Given the description of an element on the screen output the (x, y) to click on. 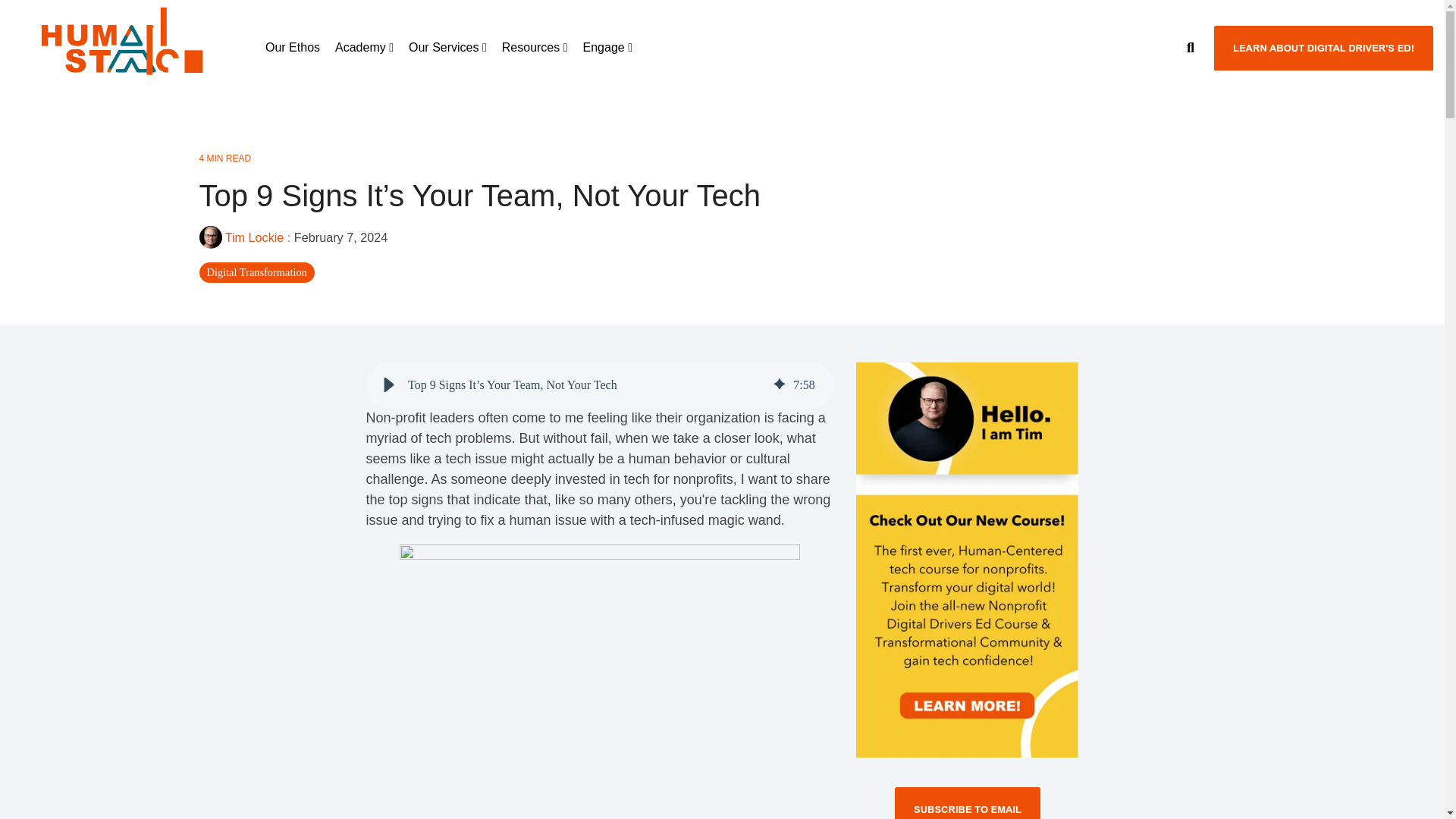
Academy (363, 47)
Engage (607, 47)
Our Services (447, 47)
Resources (534, 47)
Our Ethos (292, 47)
